Given the description of an element on the screen output the (x, y) to click on. 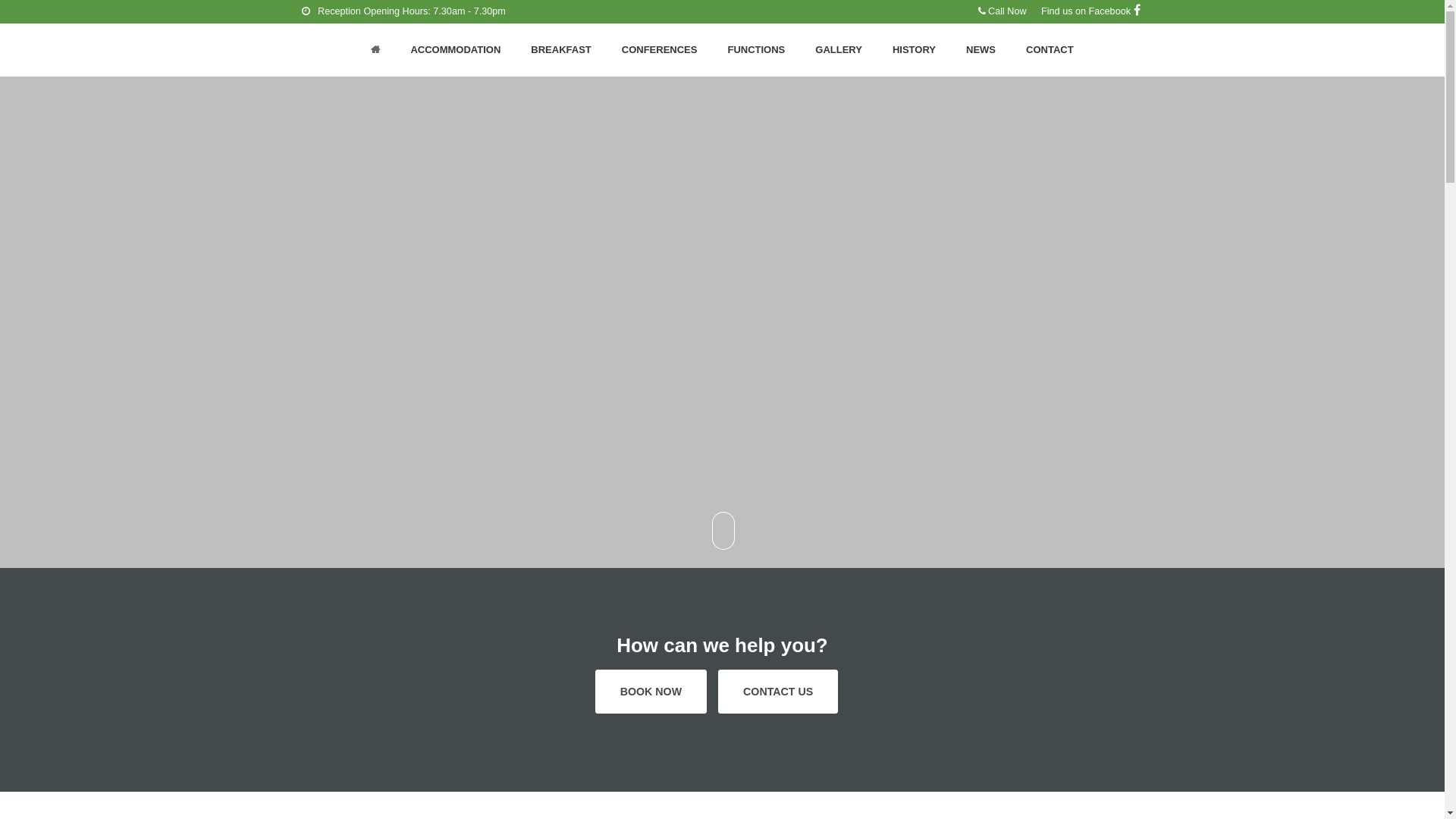
CONTACT US Element type: text (777, 691)
BOOK NOW Element type: text (650, 691)
 Call Now Element type: text (1002, 11)
BREAKFAST Element type: text (560, 49)
Find us on Facebook Element type: text (1090, 11)
HISTORY Element type: text (913, 49)
CONTACT Element type: text (1049, 49)
NEWS Element type: text (980, 49)
ACCOMMODATION Element type: text (455, 49)
FUNCTIONS Element type: text (756, 49)
GALLERY Element type: text (838, 49)
CONFERENCES Element type: text (659, 49)
